Given the description of an element on the screen output the (x, y) to click on. 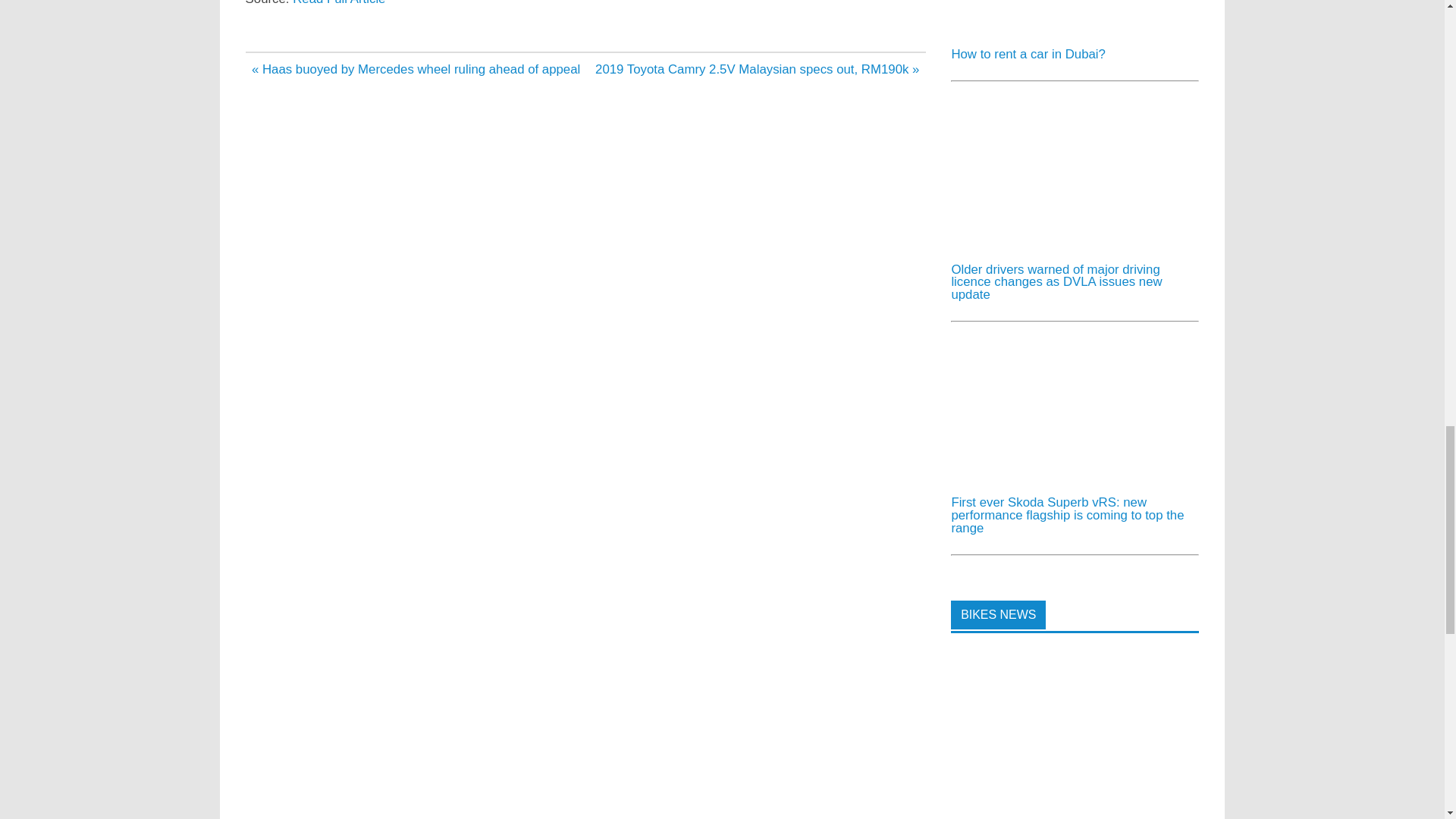
How to rent a car in Dubai? (1027, 53)
How to rent a car in Dubai? (1063, 28)
Read Full Article (338, 2)
